Given the description of an element on the screen output the (x, y) to click on. 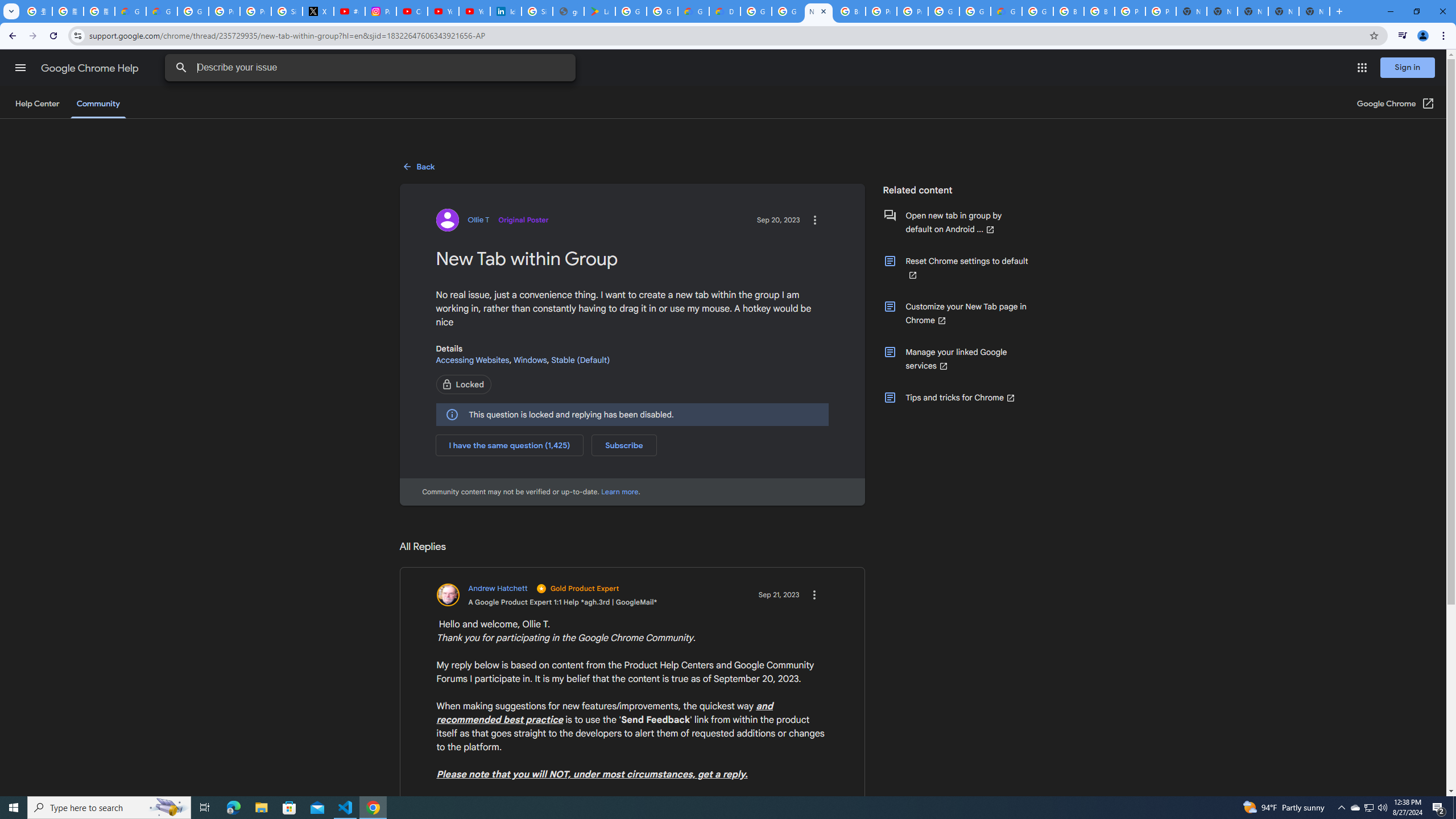
Privacy Help Center - Policies Help (255, 11)
Google Cloud Platform (756, 11)
Reset Chrome settings to default (Opens in a new window) (955, 267)
Subscribe (624, 444)
